Given the description of an element on the screen output the (x, y) to click on. 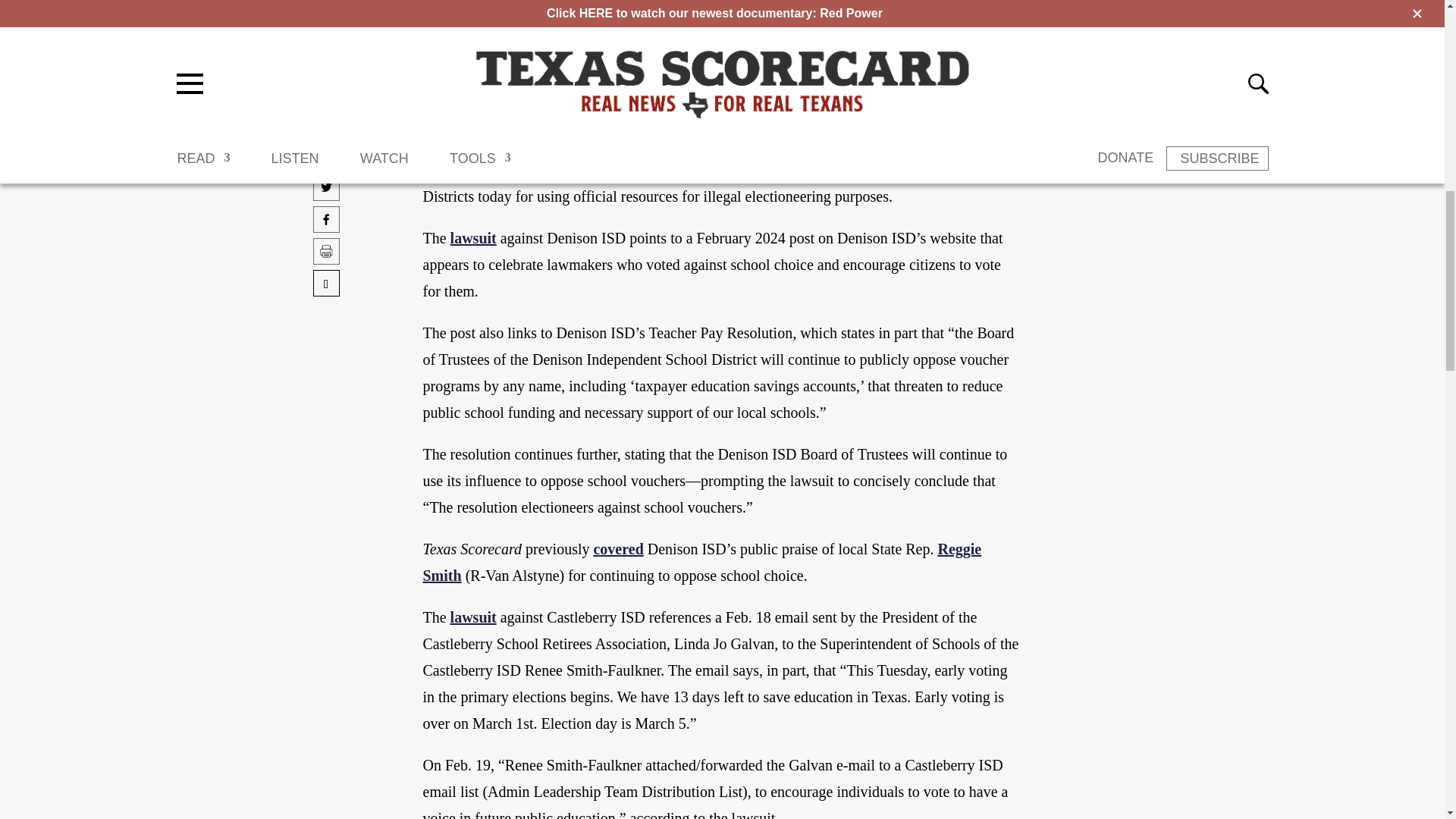
Posts by Will Biagini (470, 110)
Share this on Twitter (326, 123)
Share this on Facebook (326, 155)
